Given the description of an element on the screen output the (x, y) to click on. 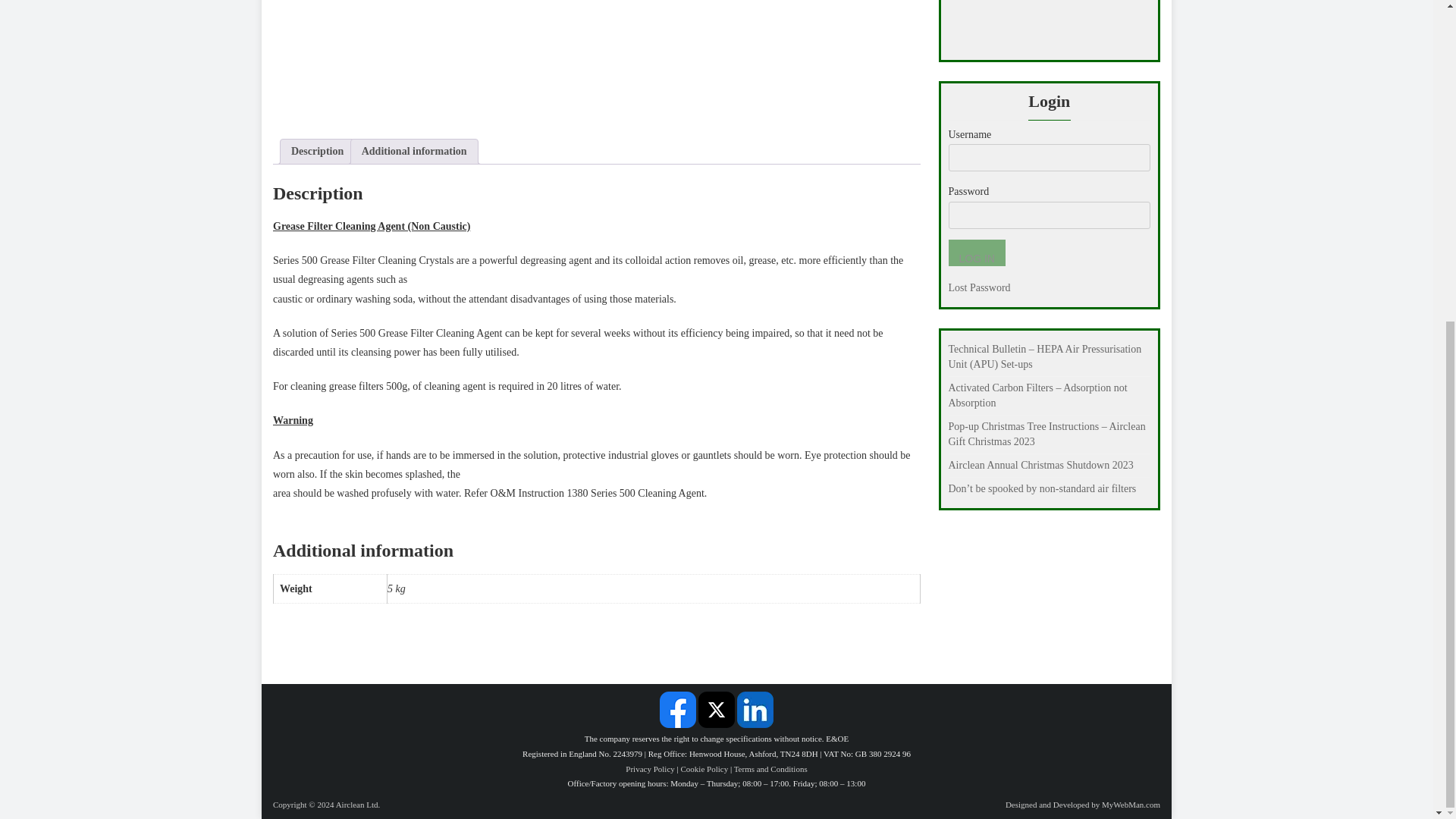
Log In (975, 252)
